Given the description of an element on the screen output the (x, y) to click on. 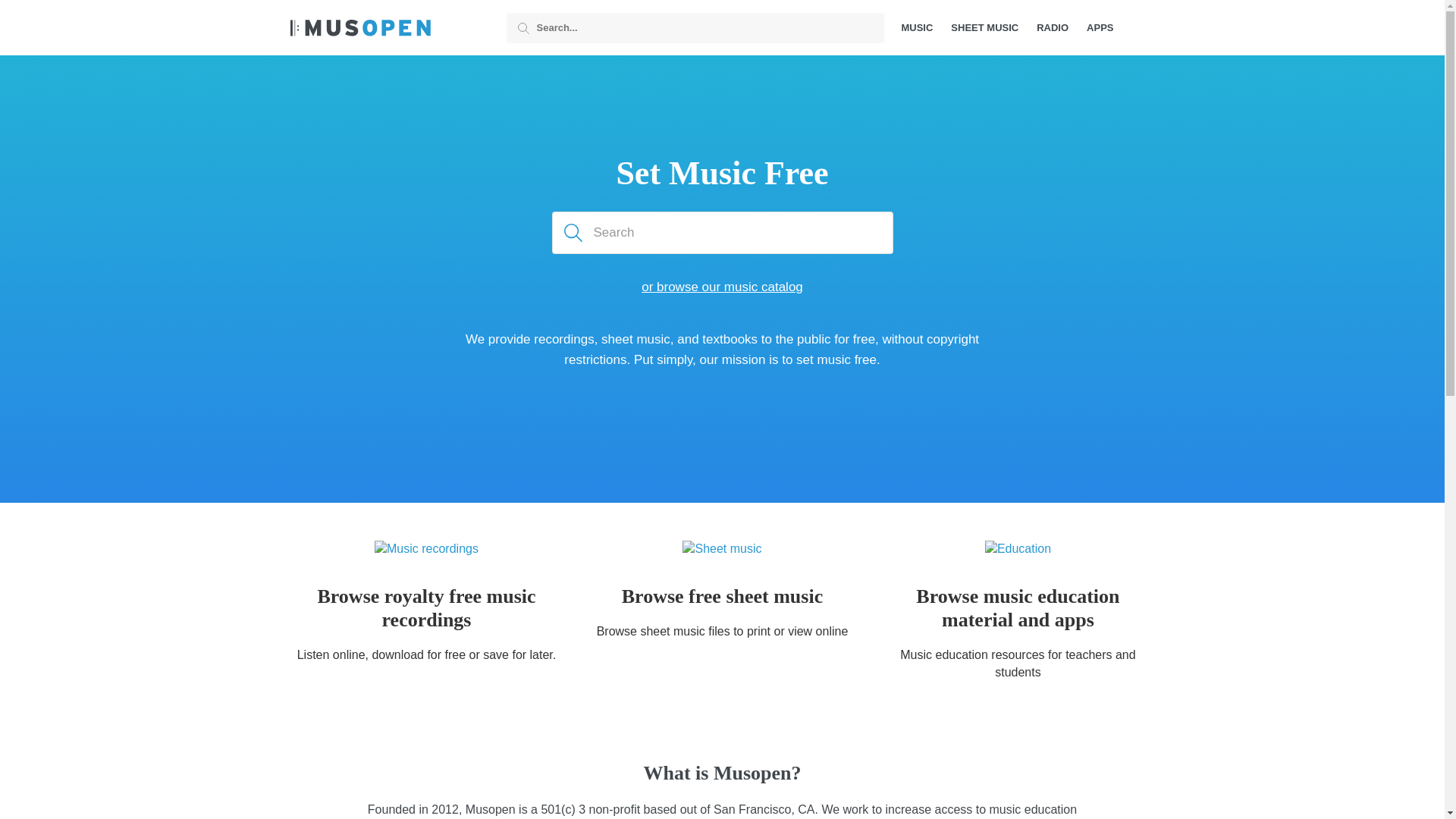
SHEET MUSIC (983, 27)
Royalty Free Classical Music (917, 27)
RADIO (1052, 27)
Free Music Apps (1099, 27)
APPS (1099, 27)
Sheet music (722, 597)
Music recordings (425, 609)
Free sheet music (983, 27)
